Given the description of an element on the screen output the (x, y) to click on. 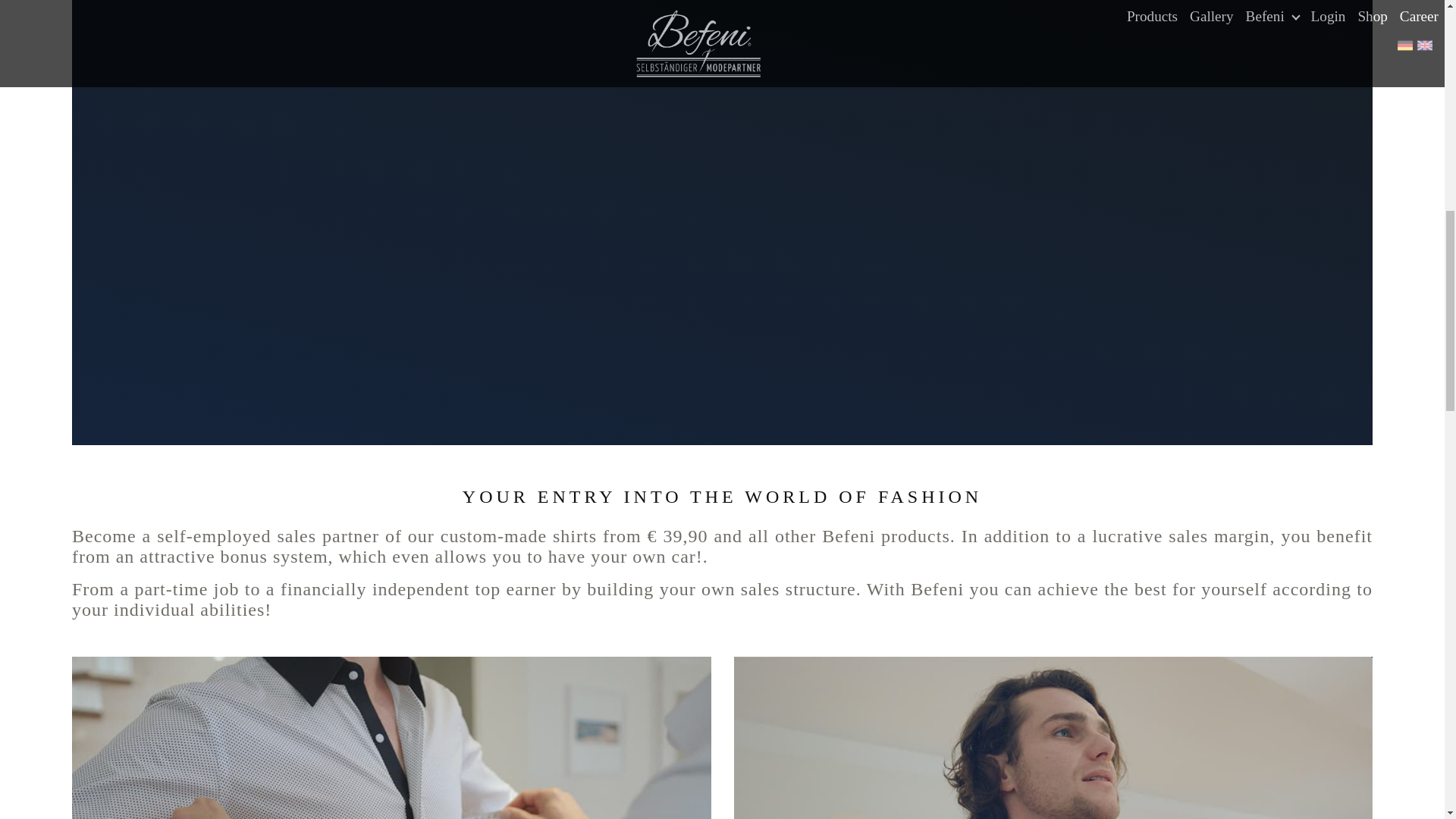
terms and conditions (251, 517)
Don't ask again (288, 567)
Terms and conditions (251, 517)
Load video (172, 567)
